Given the description of an element on the screen output the (x, y) to click on. 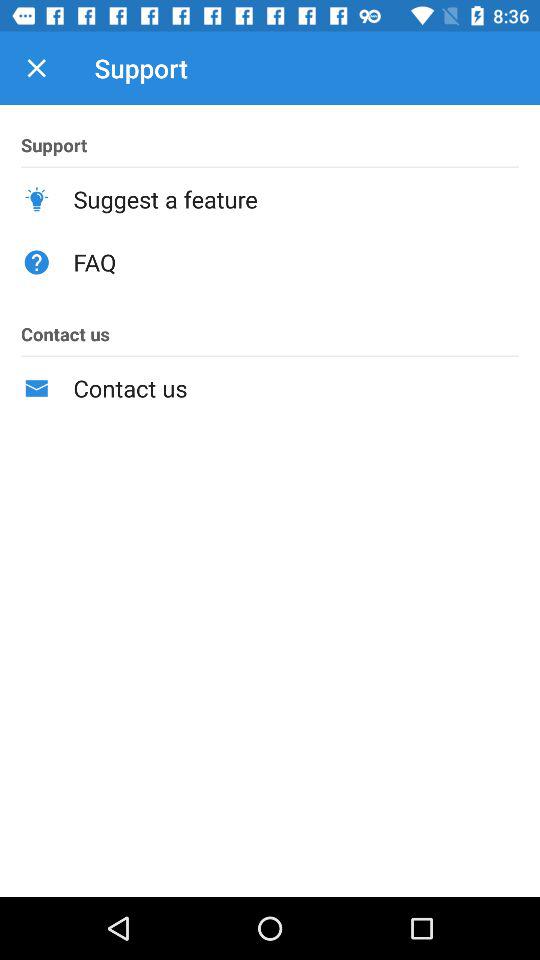
scroll until the faq icon (296, 262)
